Given the description of an element on the screen output the (x, y) to click on. 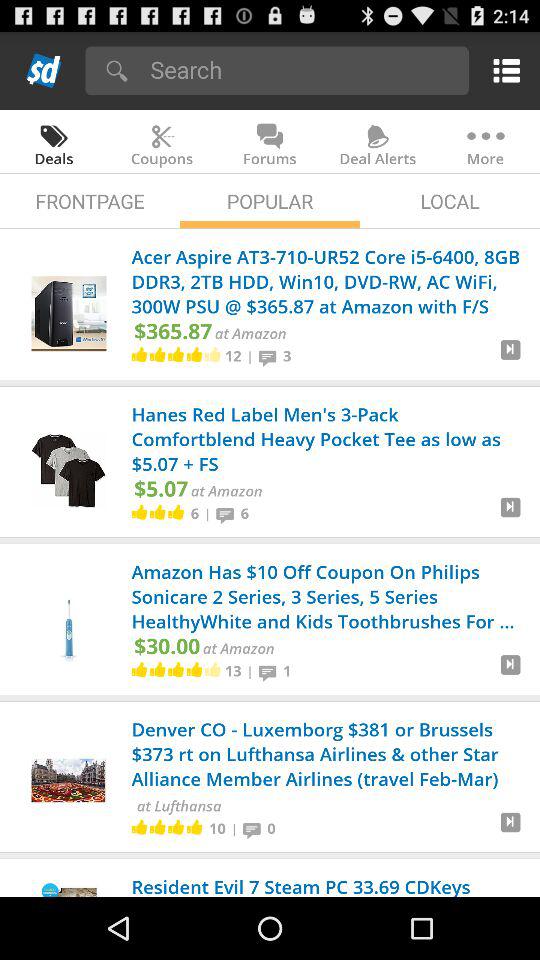
return to home page (44, 70)
